Given the description of an element on the screen output the (x, y) to click on. 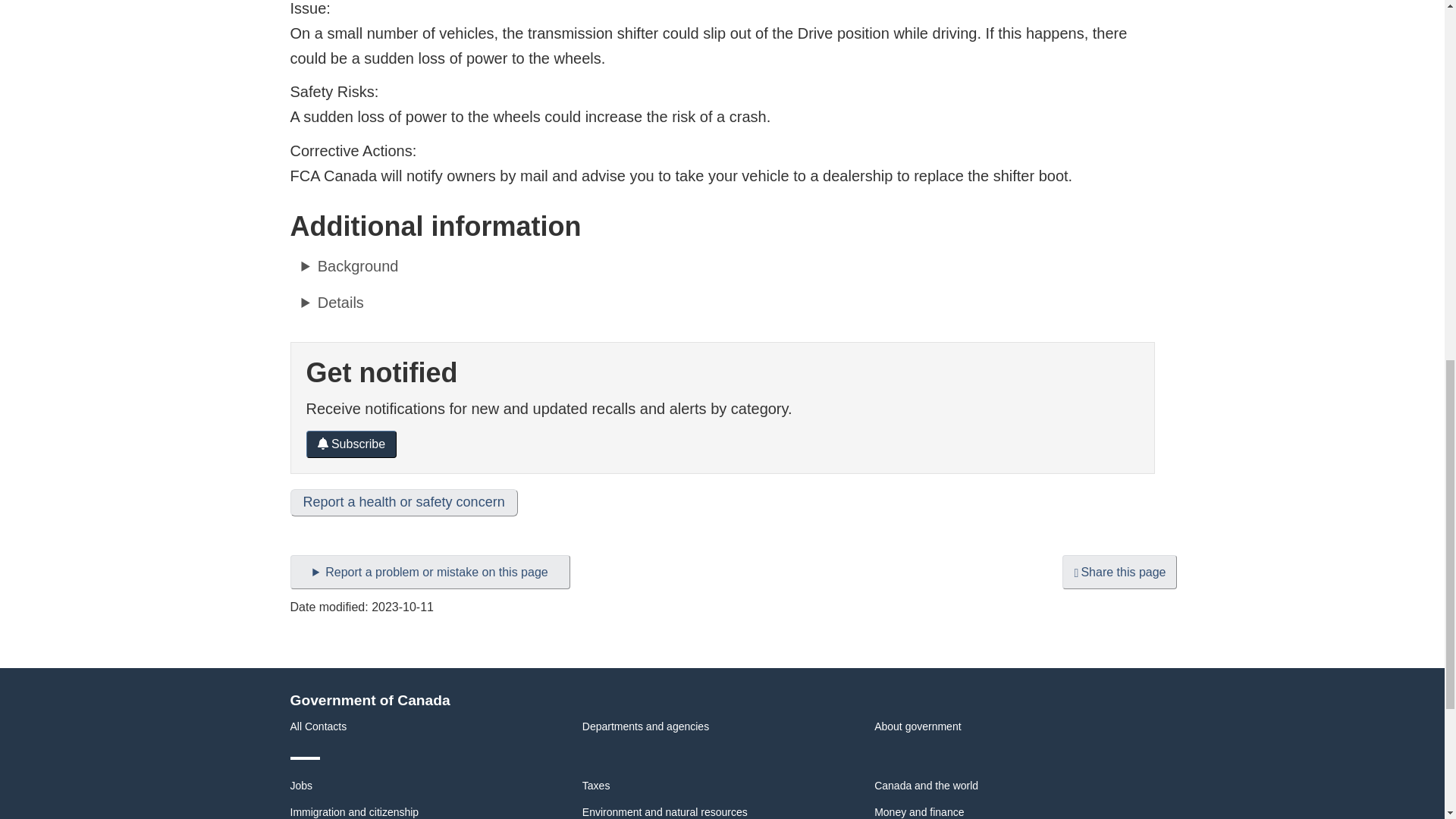
Departments and agencies (645, 726)
Taxes (596, 785)
Immigration and citizenship section. (354, 811)
Money and finance (919, 811)
Departments and agencies section. (645, 726)
About government (917, 726)
Jobs section. (301, 785)
About government section. (917, 726)
All Contacts section. (317, 726)
Jobs (301, 785)
Report a health or safety concern (402, 502)
Environment and natural resources (665, 811)
All Contacts (317, 726)
Immigration and citizenship (354, 811)
Subscribe (351, 443)
